Given the description of an element on the screen output the (x, y) to click on. 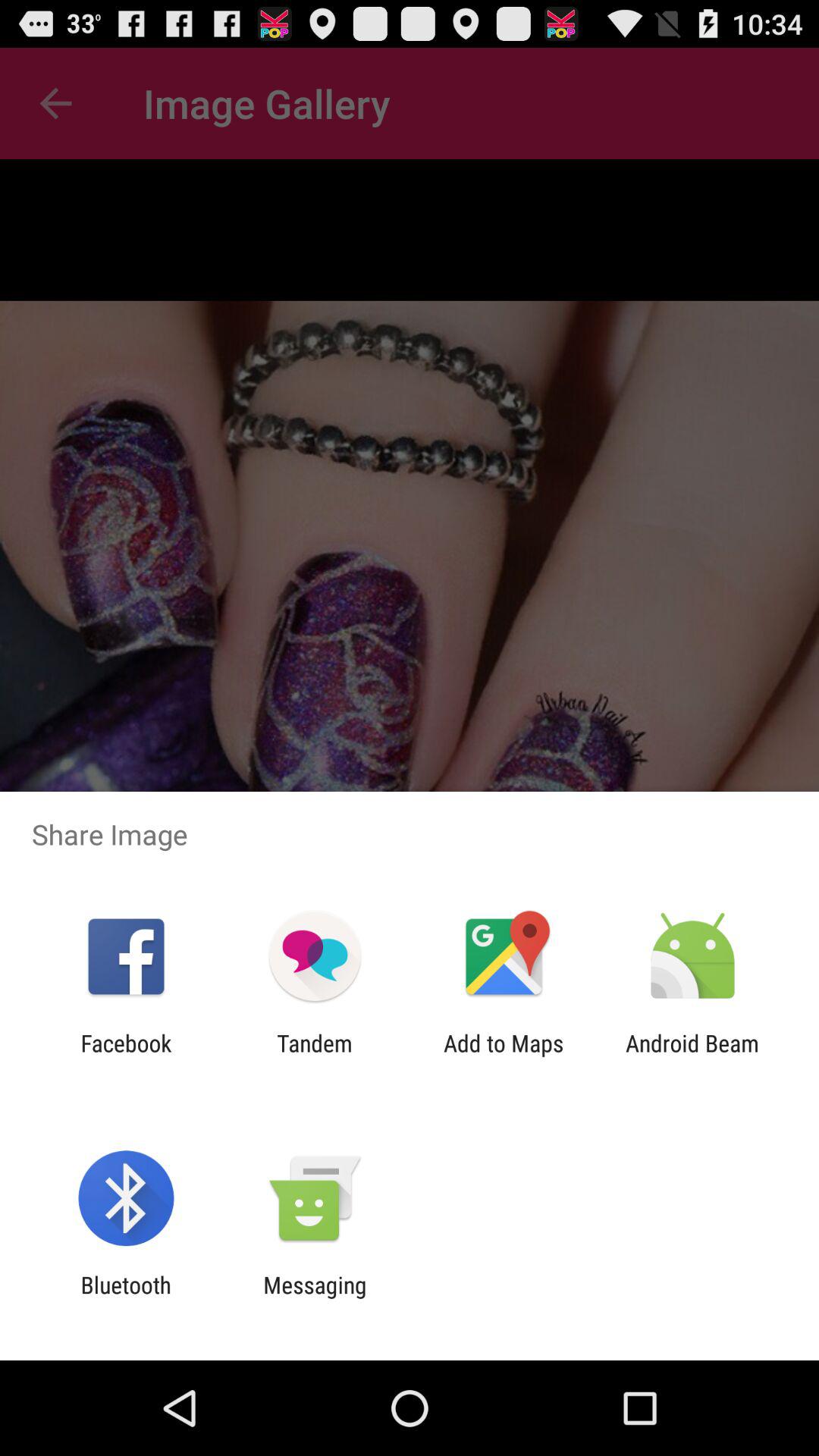
select item to the right of add to maps (692, 1056)
